Given the description of an element on the screen output the (x, y) to click on. 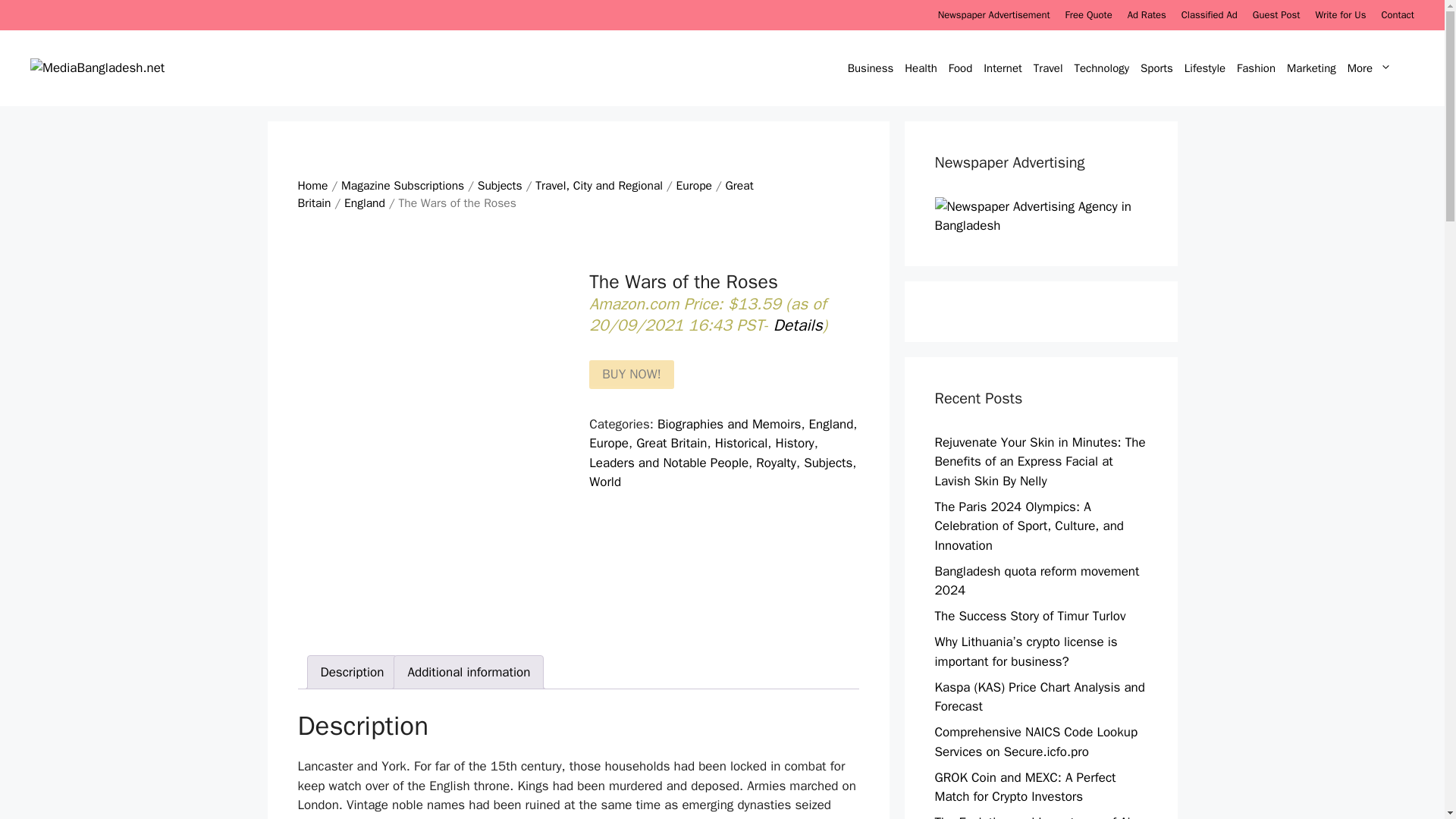
Home (312, 184)
Newspaper Advertisement (993, 14)
More (1378, 67)
Travel (1049, 67)
Magazine Subscriptions (402, 184)
Classified Ad (1208, 14)
Ad Rates (1146, 14)
Business (872, 67)
Sports (1158, 67)
Health (922, 67)
